Given the description of an element on the screen output the (x, y) to click on. 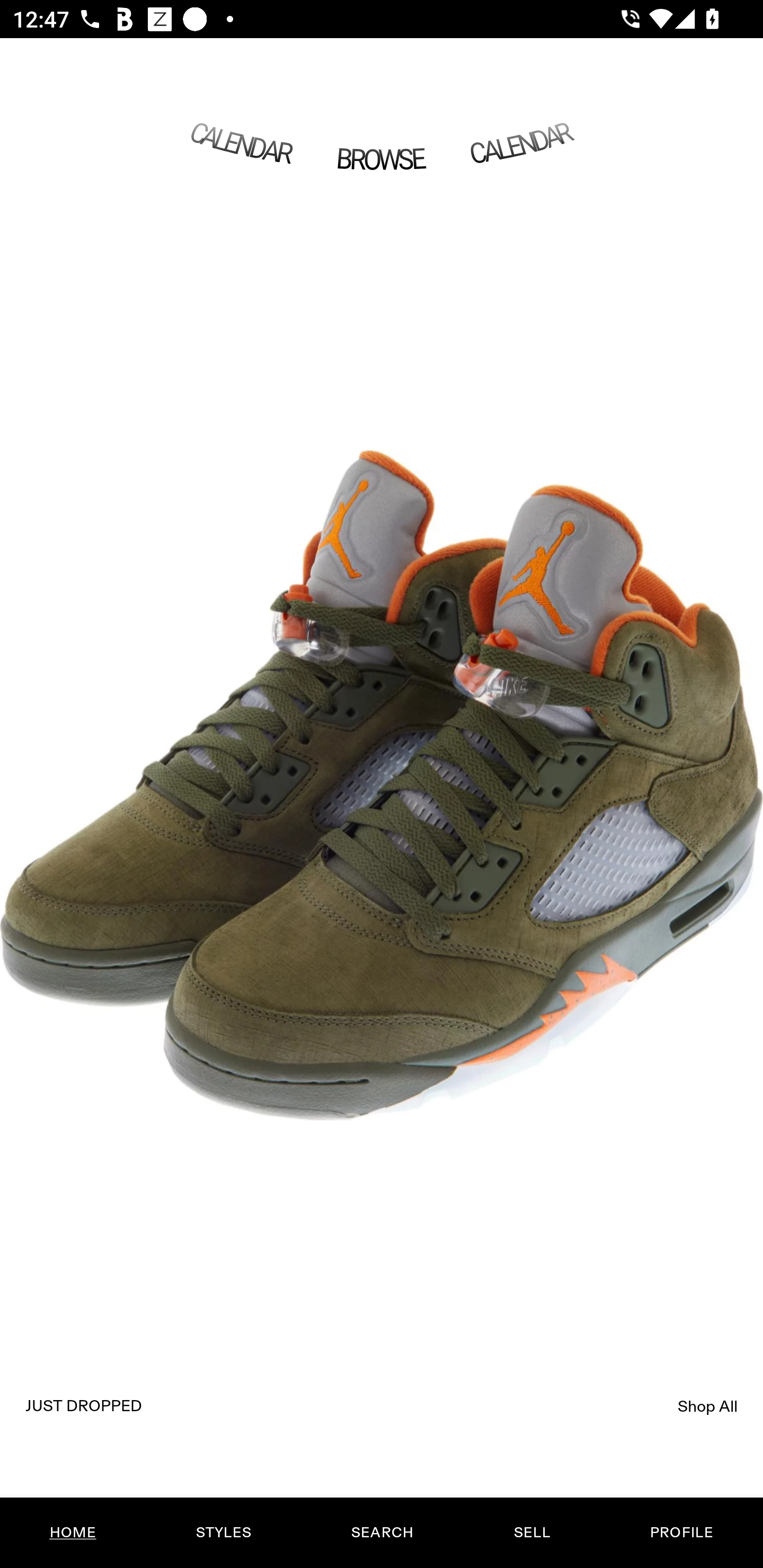
Shop All (707, 1406)
HOME (72, 1532)
STYLES (222, 1532)
SEARCH (381, 1532)
SELL (531, 1532)
PROFILE (681, 1532)
